Given the description of an element on the screen output the (x, y) to click on. 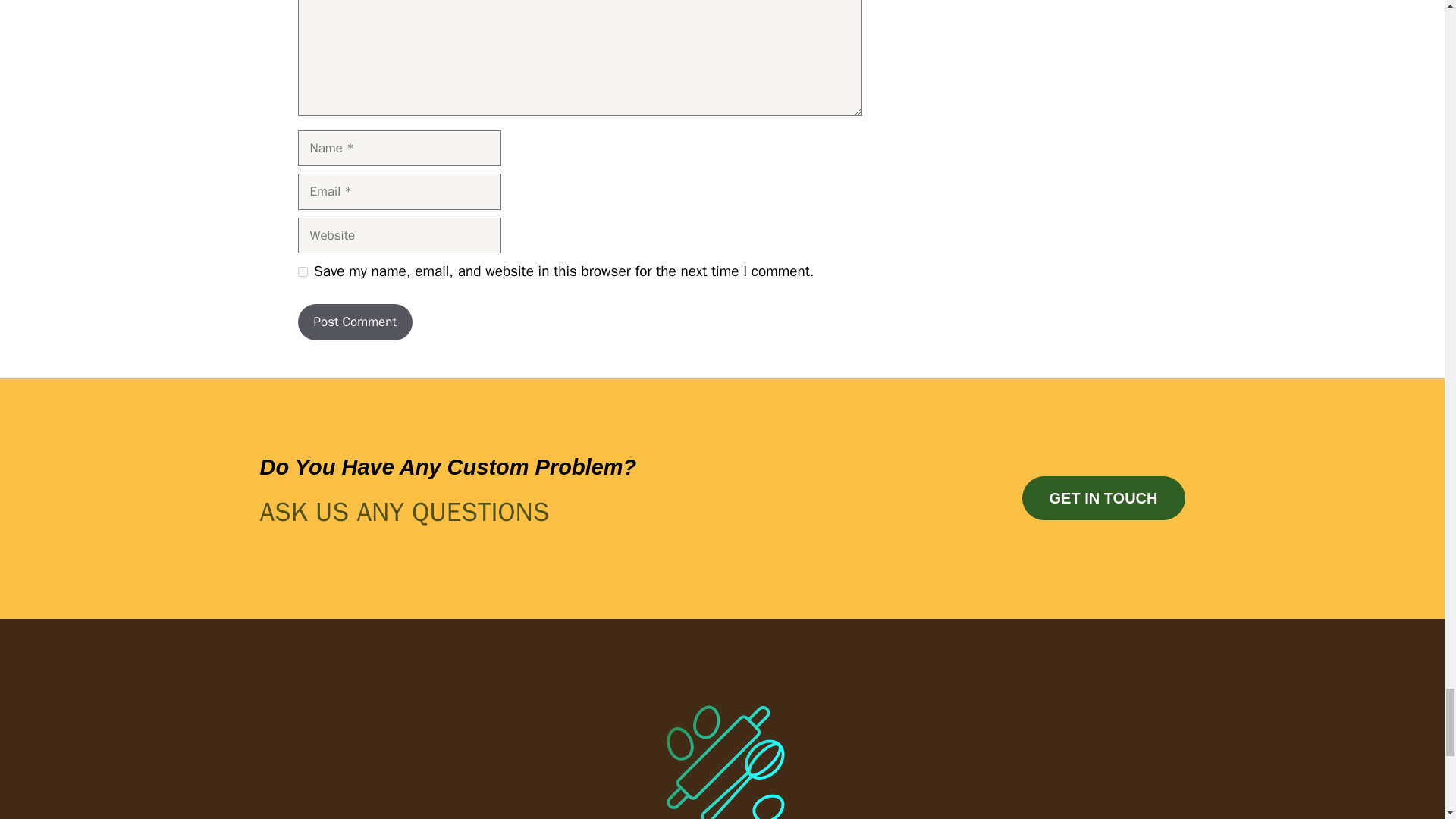
Post Comment (354, 321)
yes (302, 271)
